Given the description of an element on the screen output the (x, y) to click on. 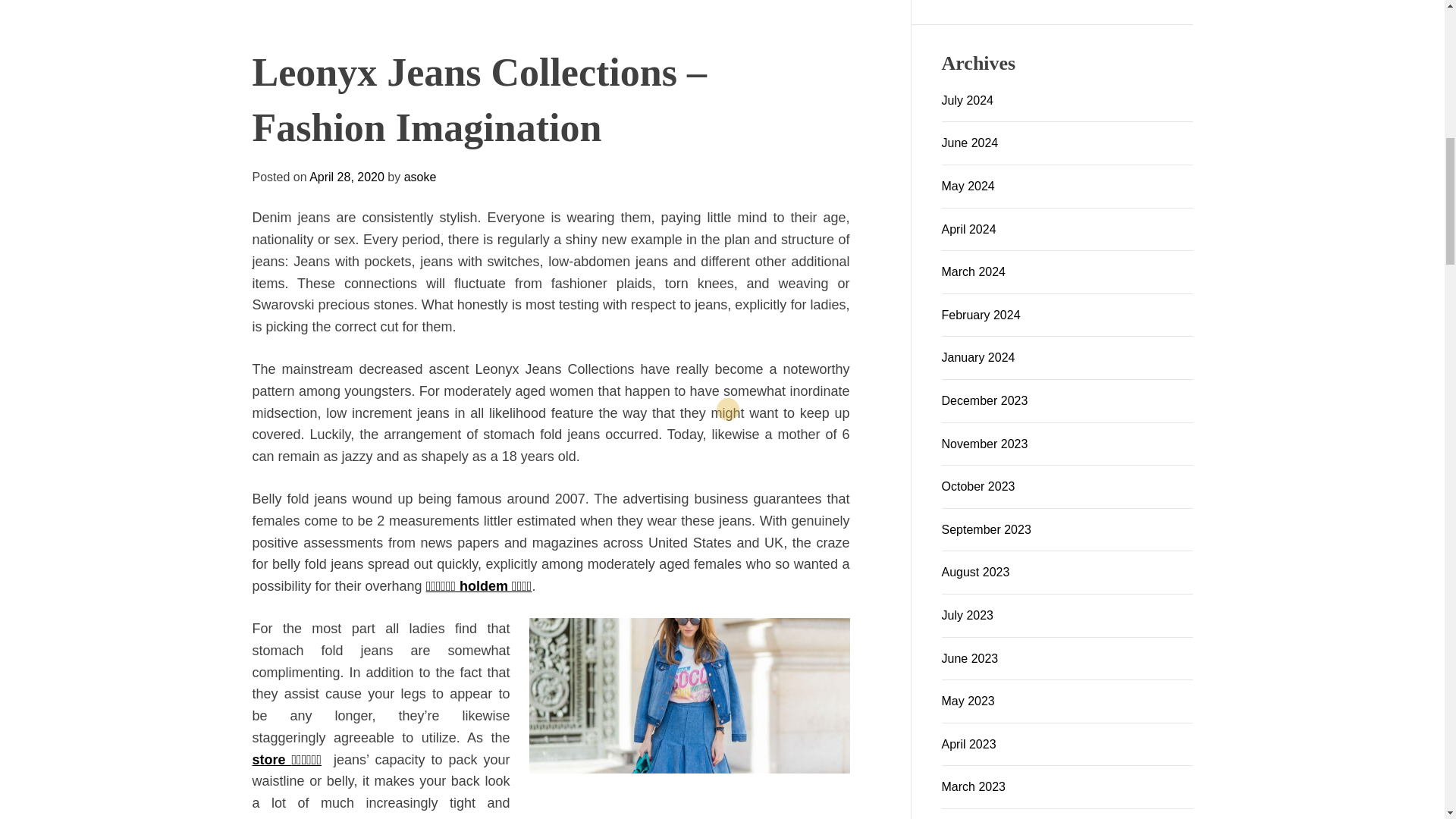
July 2024 (968, 100)
